Given the description of an element on the screen output the (x, y) to click on. 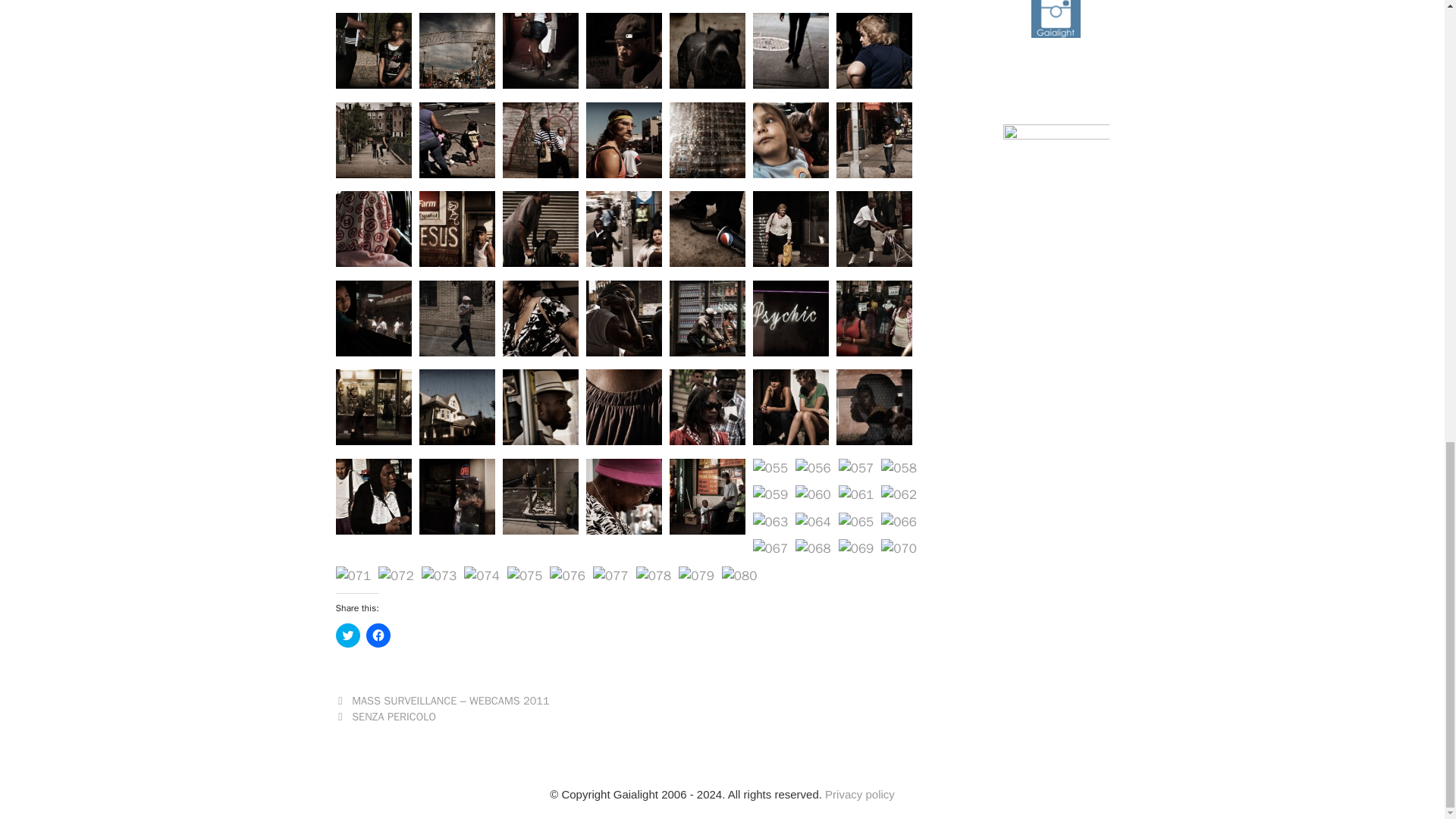
BROOKLYN BUZZ, 2010-2012 (790, 2)
BROOKLYN BUZZ, 2010-2012 (457, 2)
BROOKLYN BUZZ, 2010-2012 (372, 84)
BROOKLYN BUZZ, 2010-2012 (623, 2)
BROOKLYN BUZZ, 2010-2012 (873, 2)
BROOKLYN BUZZ, 2010-2012 (540, 2)
BROOKLYN BUZZ, 2010-2012 (372, 2)
BROOKLYN BUZZ, 2010-2012 (706, 2)
